Given the description of an element on the screen output the (x, y) to click on. 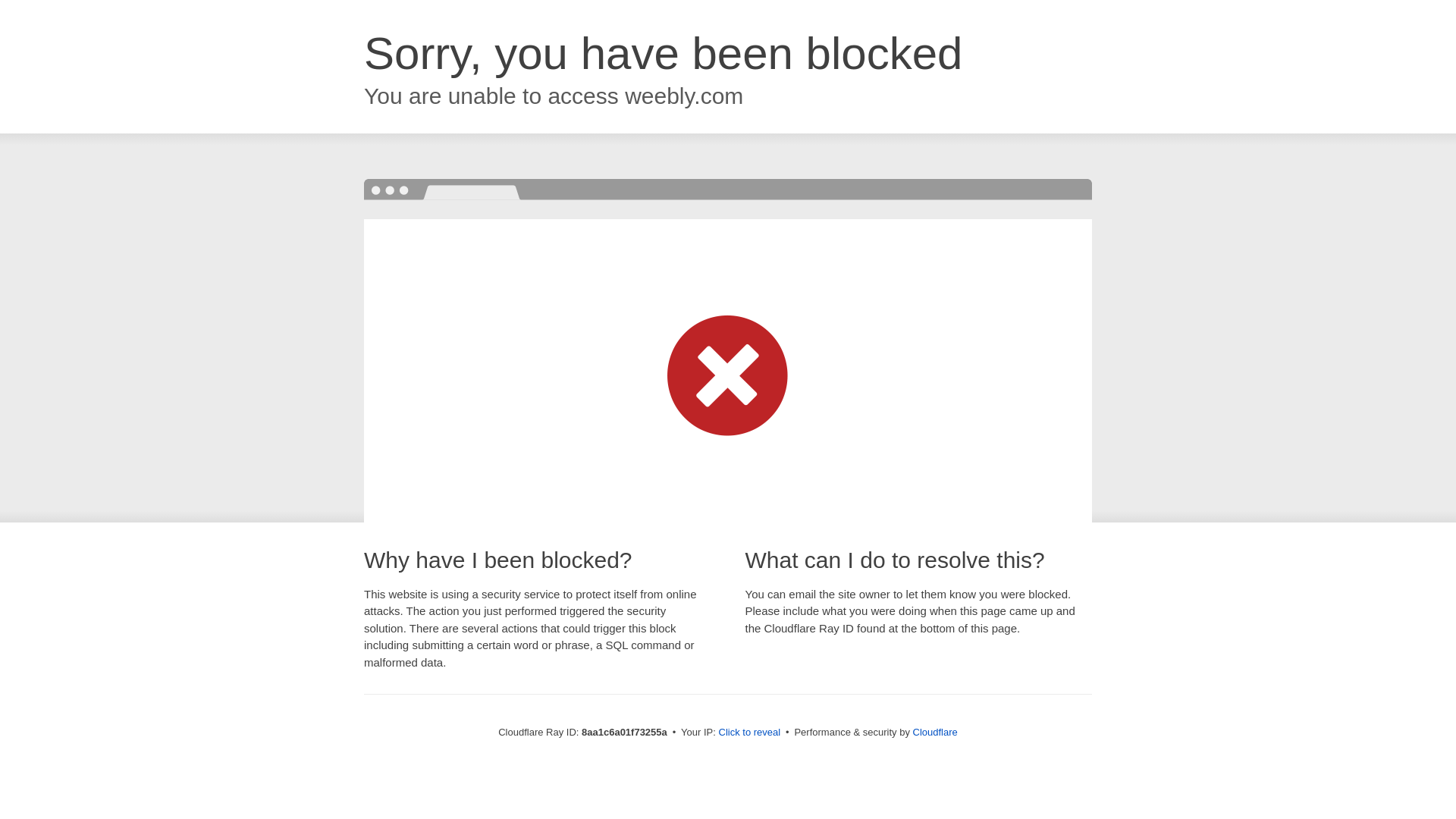
Click to reveal (749, 732)
Cloudflare (935, 731)
